Given the description of an element on the screen output the (x, y) to click on. 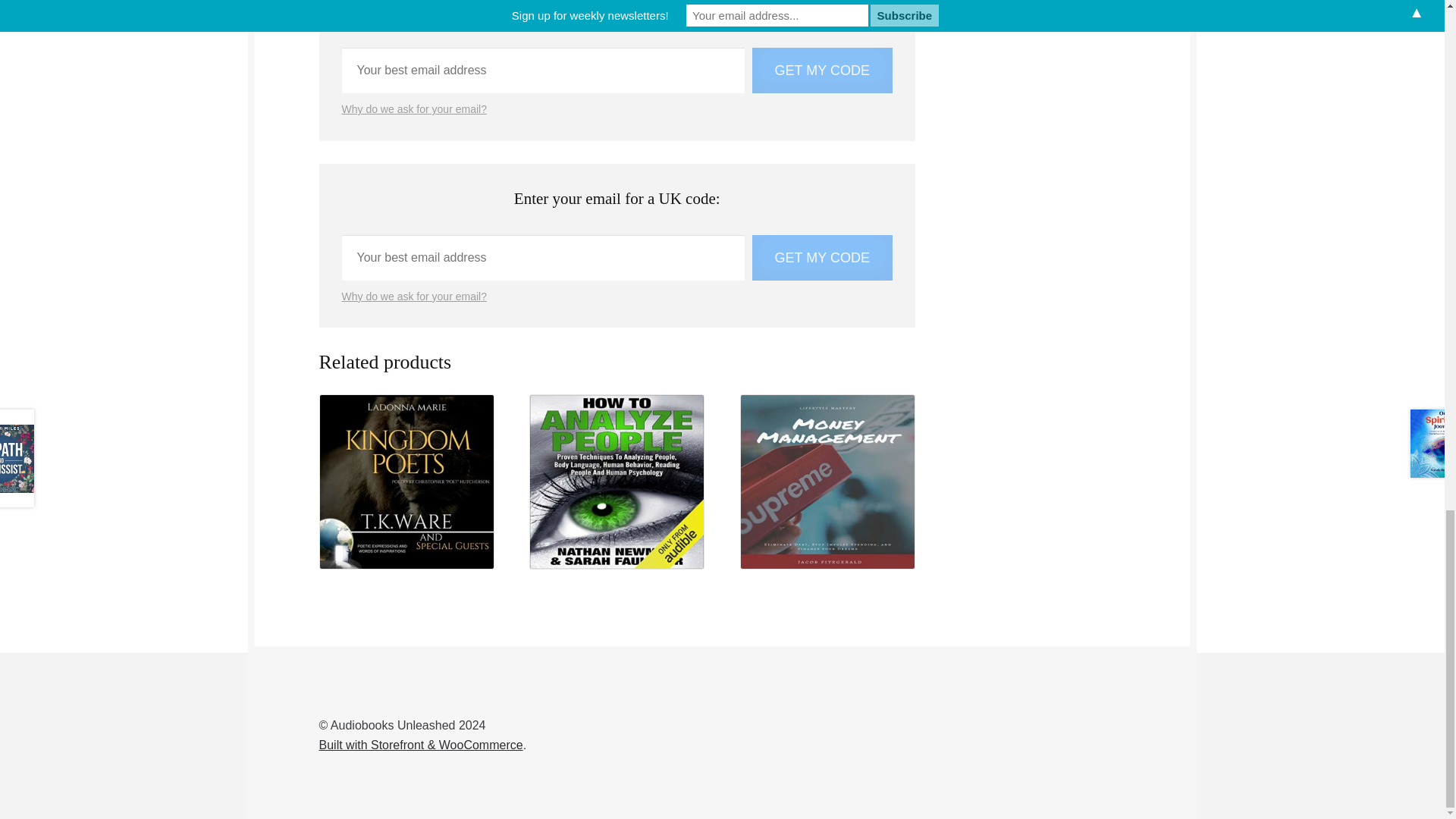
Get my code (822, 70)
Why do we ask for your email? (414, 109)
Get my code (822, 257)
Why do we ask for your email? (414, 296)
WooCommerce - The Best eCommerce Platform for WordPress (420, 744)
Get my code (822, 257)
Get my code (822, 70)
